Given the description of an element on the screen output the (x, y) to click on. 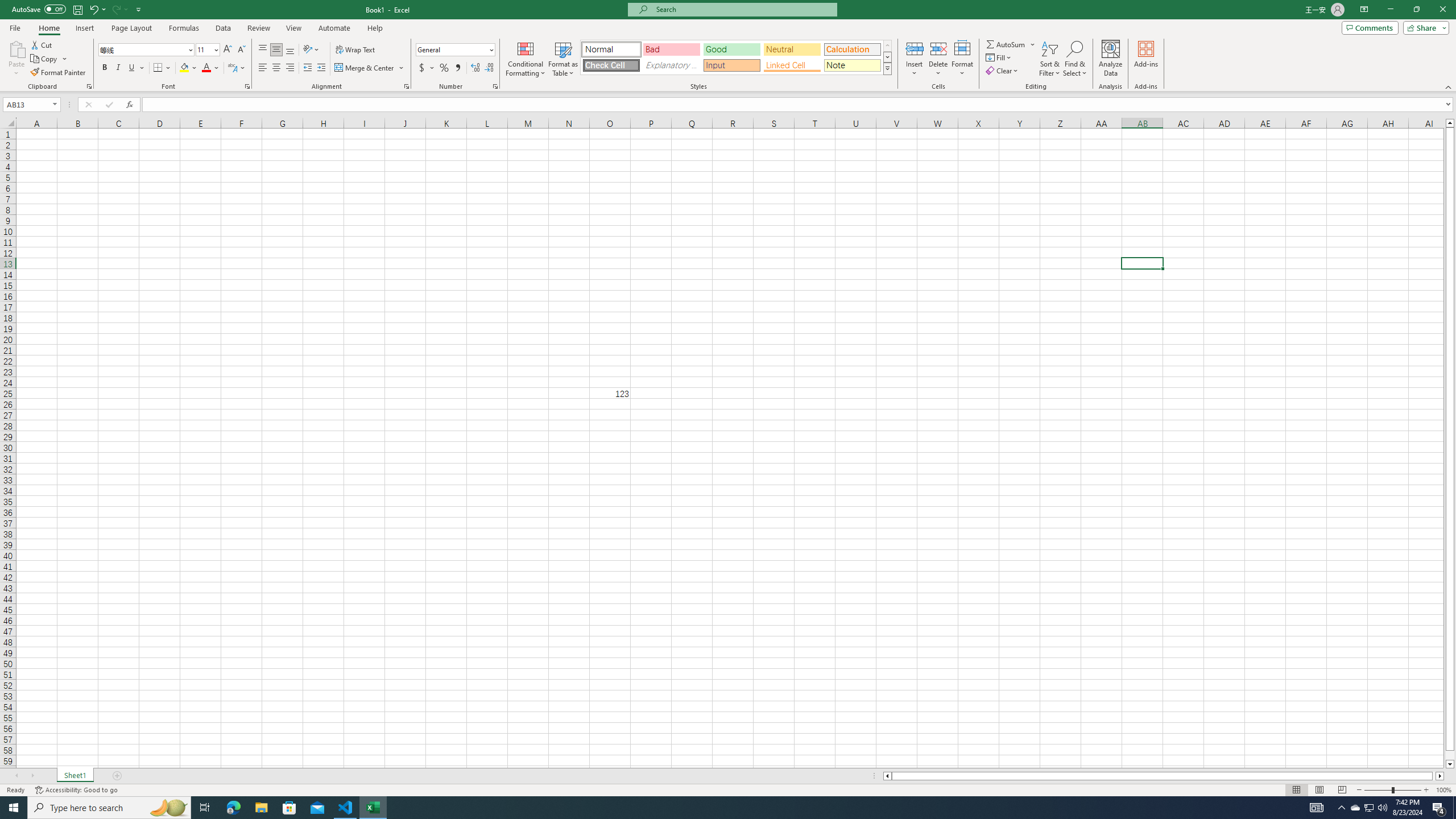
Fill Color (188, 67)
Formulas (184, 28)
Conditional Formatting (525, 58)
Ribbon Display Options (1364, 9)
Merge & Center (369, 67)
Format Painter (58, 72)
Format Cell Alignment (405, 85)
AutomationID: CellStylesGallery (736, 57)
Check Cell (611, 65)
Minimize (1390, 9)
Normal (1296, 790)
Class: NetUIImage (887, 68)
Cell Styles (887, 68)
Analyze Data (1110, 58)
Orientation (311, 49)
